Given the description of an element on the screen output the (x, y) to click on. 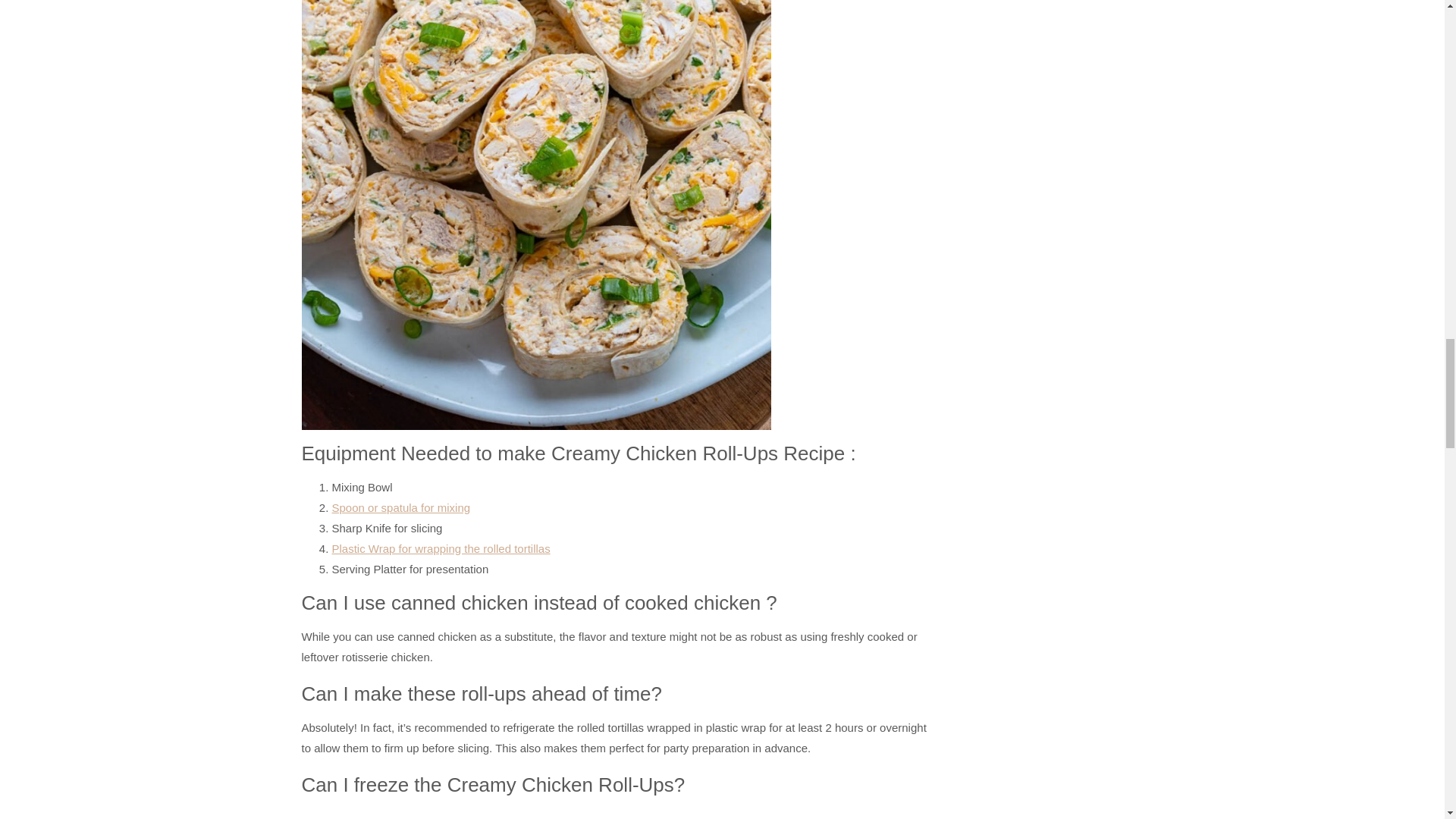
Plastic Wrap for wrapping the rolled tortillas (440, 548)
Spoon or spatula for mixing (400, 507)
